Given the description of an element on the screen output the (x, y) to click on. 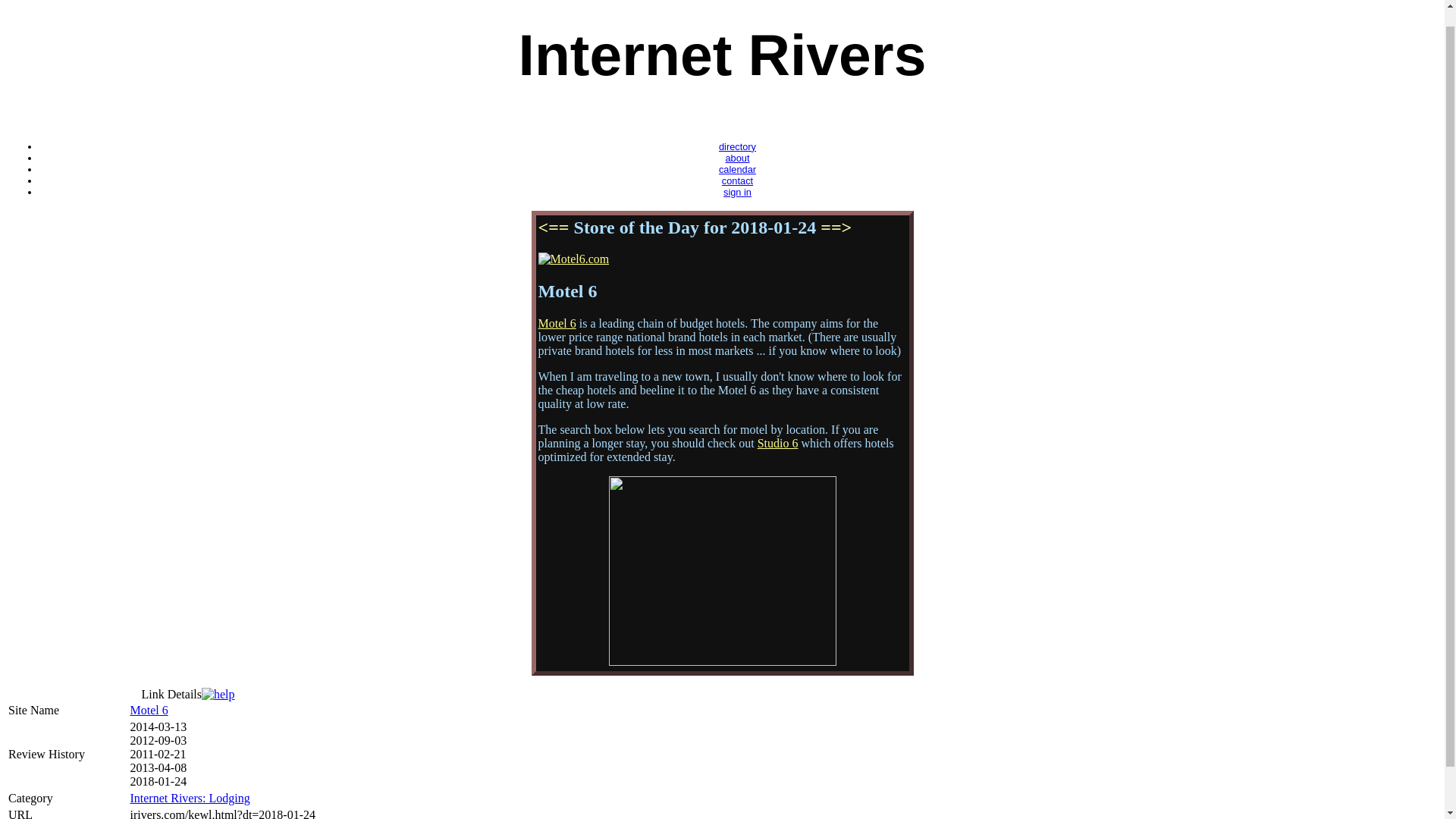
Motel 6 (148, 709)
next (836, 227)
Motel 6 (557, 323)
calendar (737, 169)
previous (553, 227)
contact (737, 180)
directory (737, 146)
Studio 6 (777, 442)
sign in (737, 192)
Internet Rivers: Lodging (188, 797)
about (737, 157)
